Given the description of an element on the screen output the (x, y) to click on. 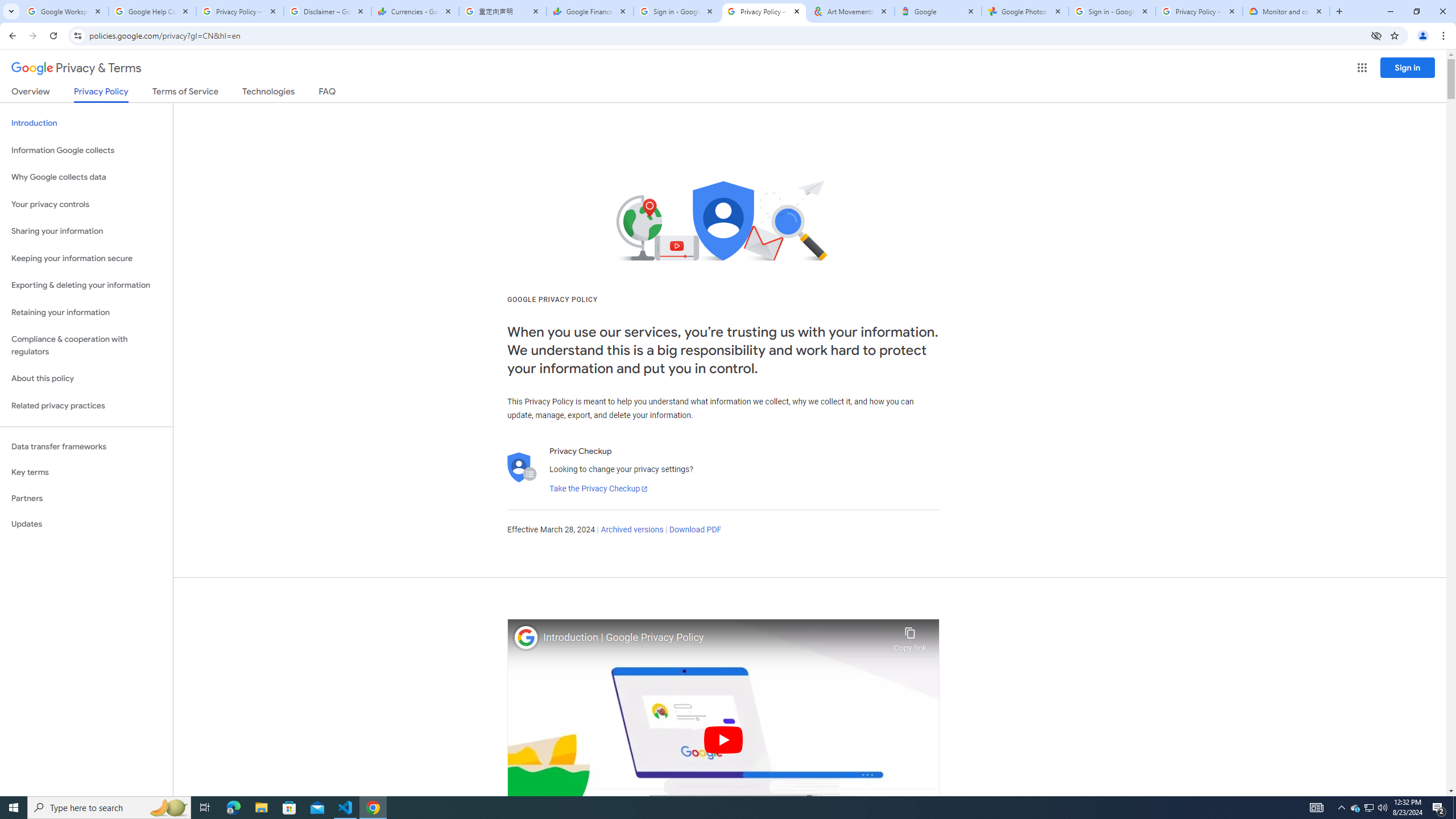
Exporting & deleting your information (86, 284)
Compliance & cooperation with regulators (86, 345)
Take the Privacy Checkup (597, 488)
Photo image of Google (526, 636)
Retaining your information (86, 312)
Sharing your information (86, 230)
